Given the description of an element on the screen output the (x, y) to click on. 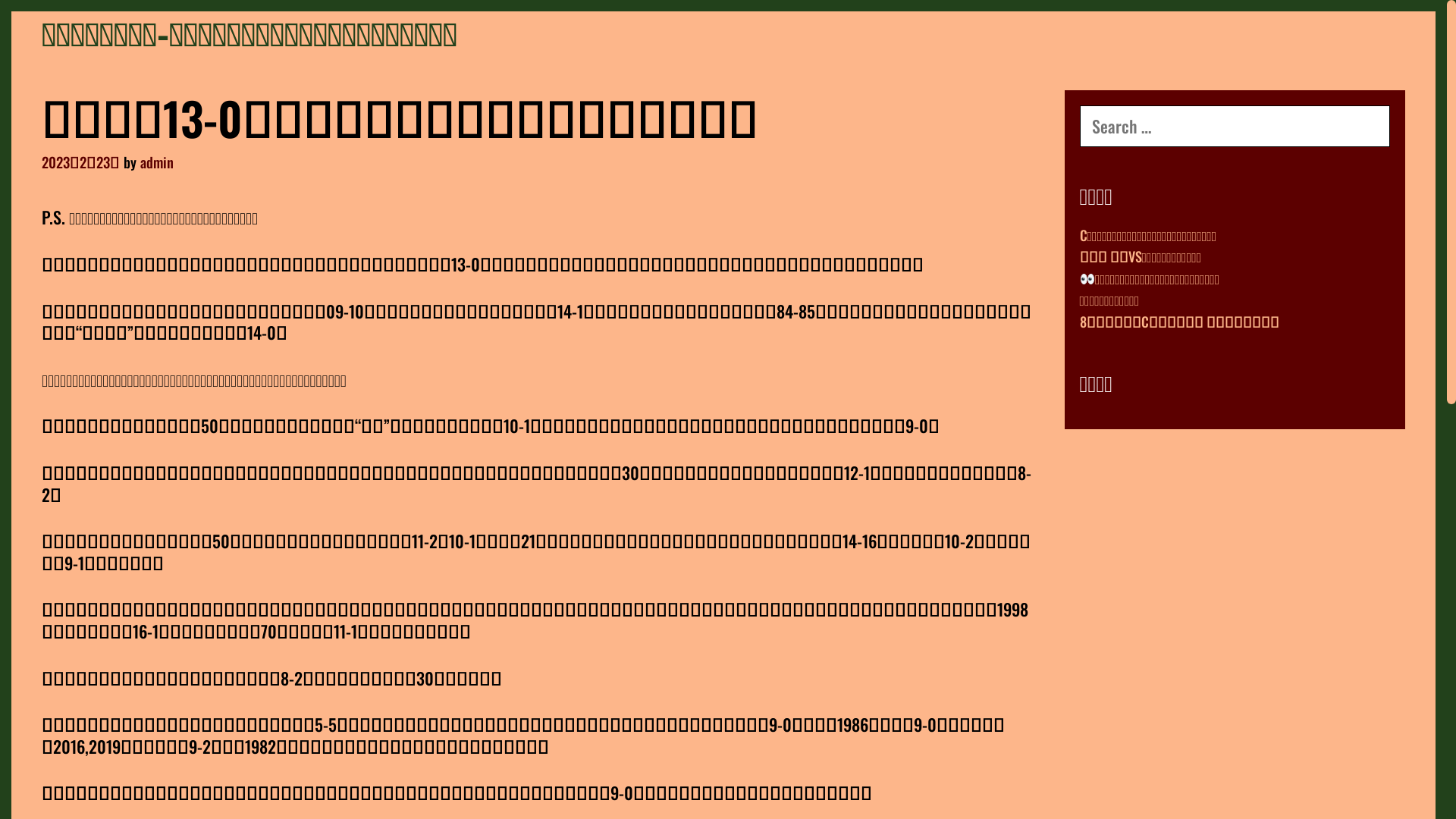
Search for: Element type: hover (1234, 126)
Search Element type: text (48, 20)
Skip to content Element type: text (10, 10)
admin Element type: text (156, 161)
